Given the description of an element on the screen output the (x, y) to click on. 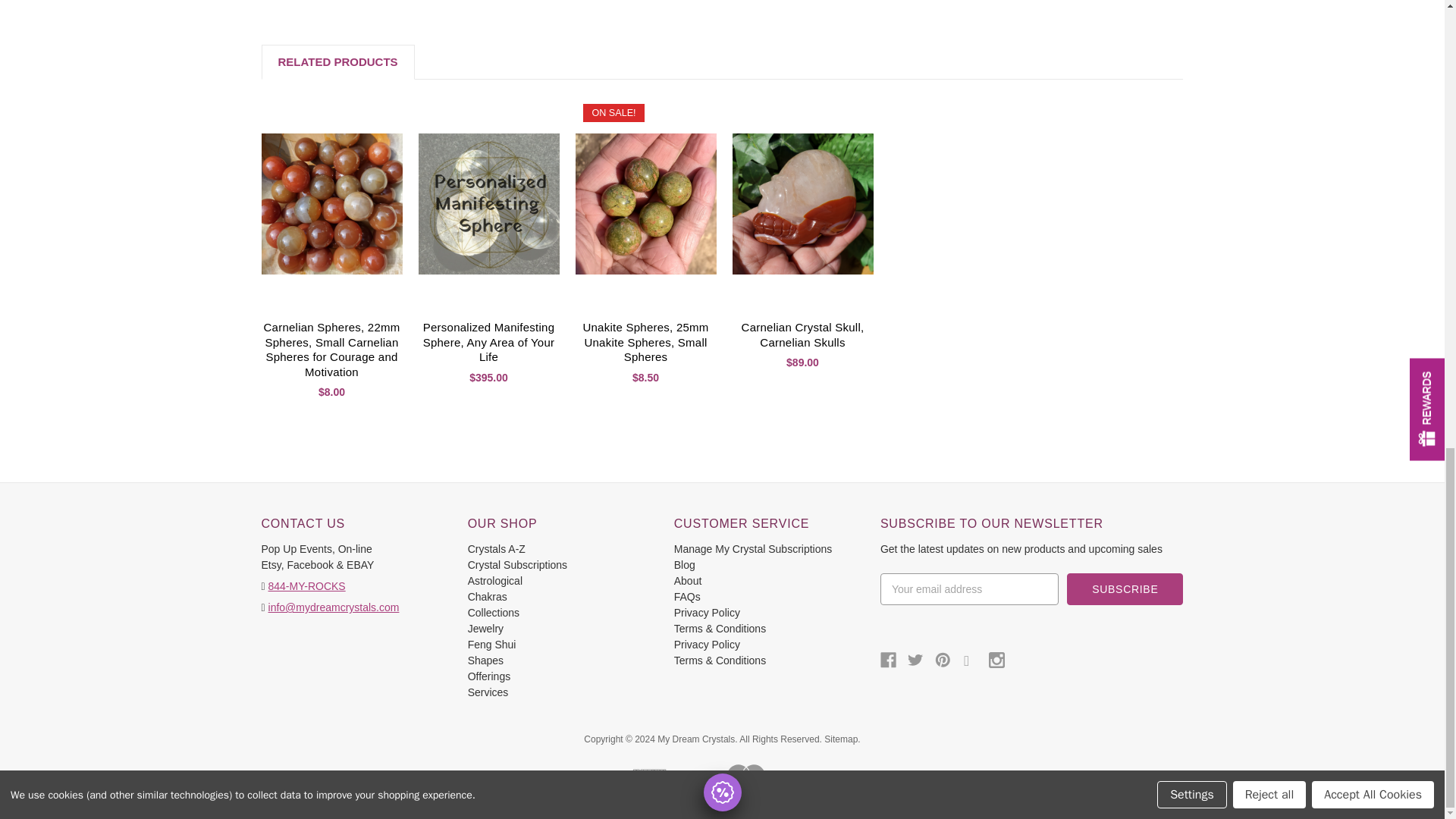
Carnelian Small Spheres (330, 203)
1" Unakite Spheres, 25mm (645, 203)
Subscribe (1124, 589)
Personalized Manifesting Sphere (489, 203)
Carnelian Skull (802, 203)
